Given the description of an element on the screen output the (x, y) to click on. 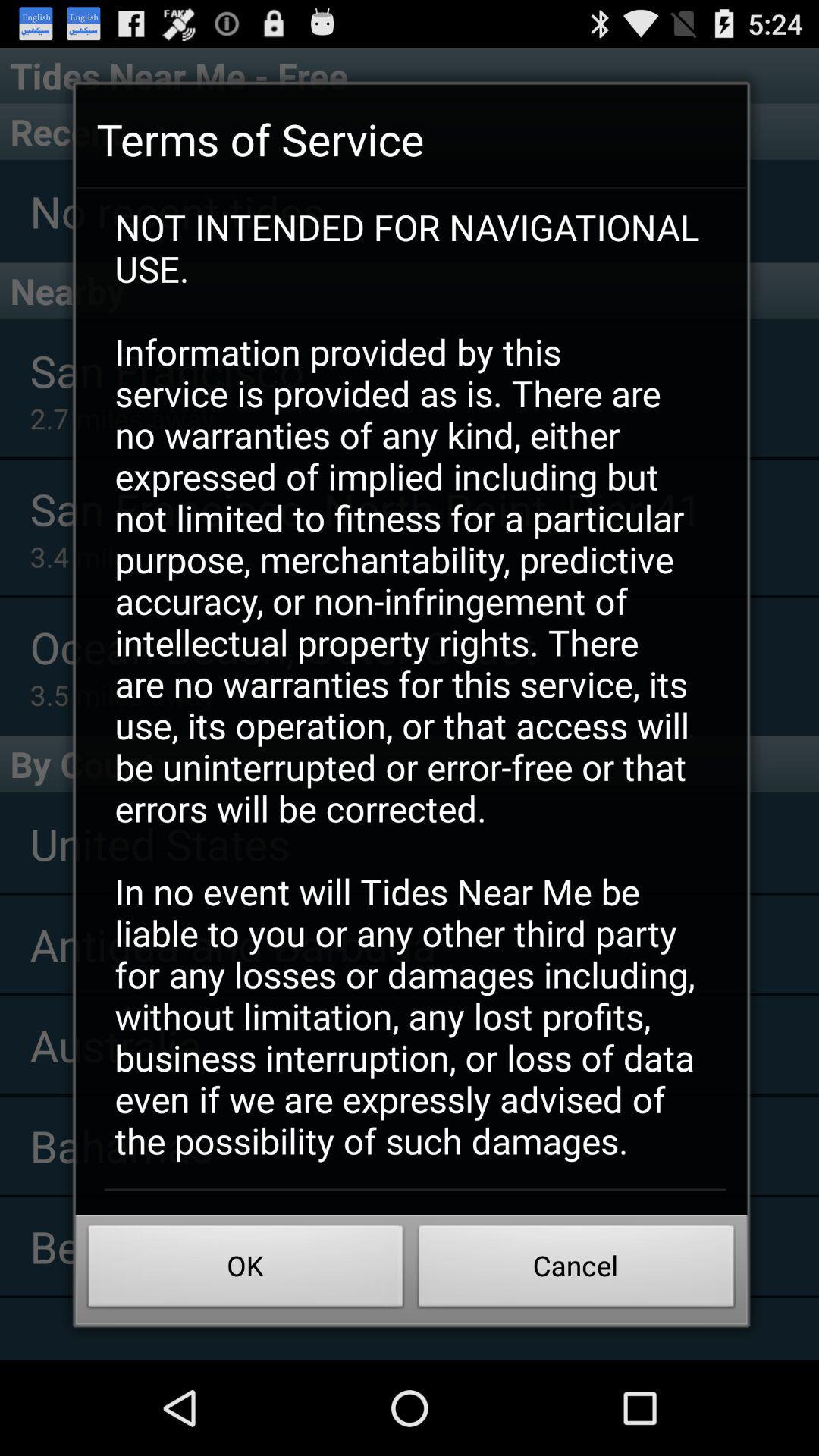
tap the button next to cancel button (245, 1270)
